Given the description of an element on the screen output the (x, y) to click on. 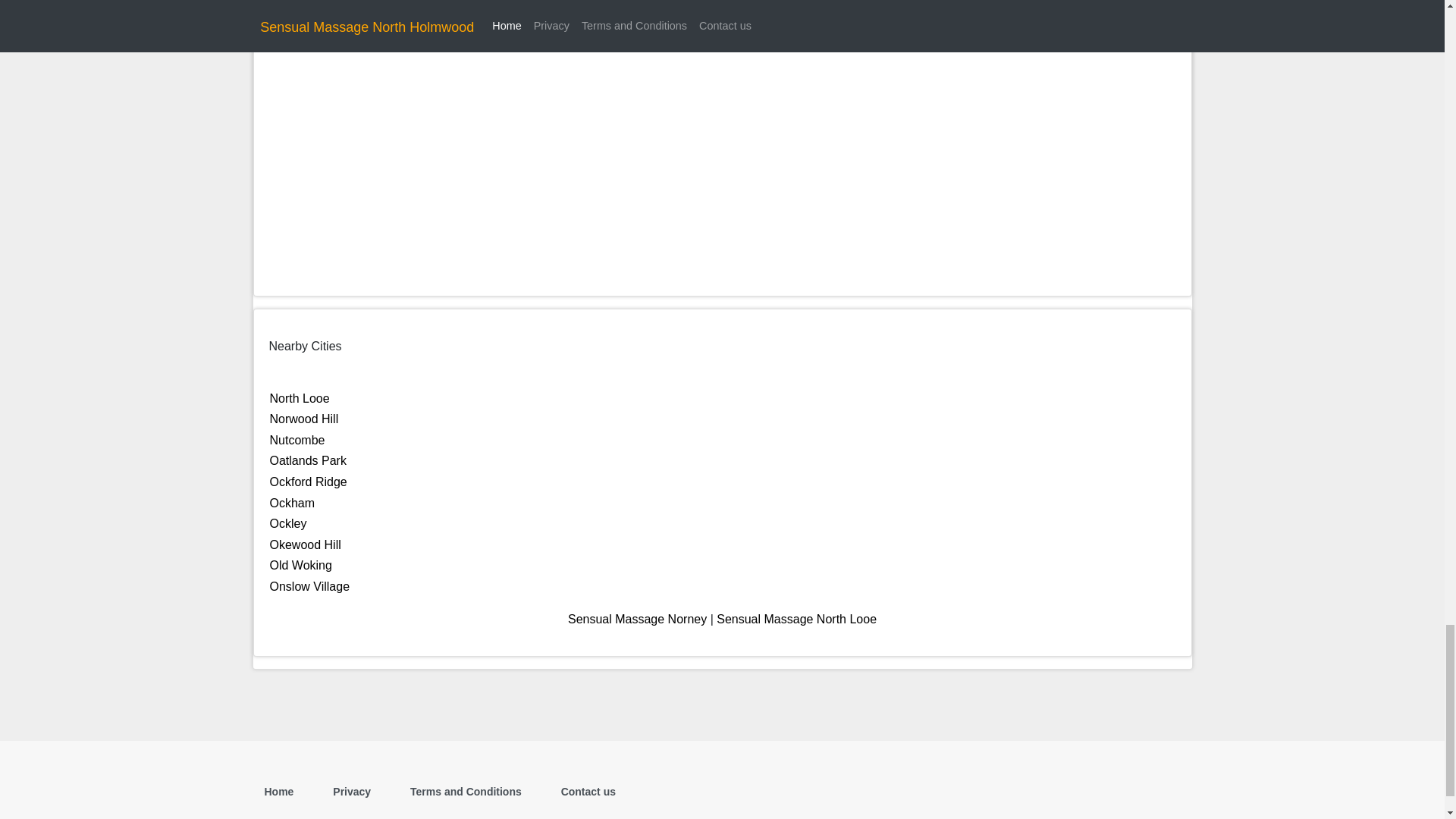
Oatlands Park (307, 460)
Ockley (288, 522)
Ockford Ridge (308, 481)
Sensual Massage North Looe (796, 618)
Okewood Hill (304, 544)
North Looe (299, 398)
Ockham (292, 502)
Norwood Hill (304, 418)
Onslow Village (309, 585)
Nutcombe (296, 440)
